Given the description of an element on the screen output the (x, y) to click on. 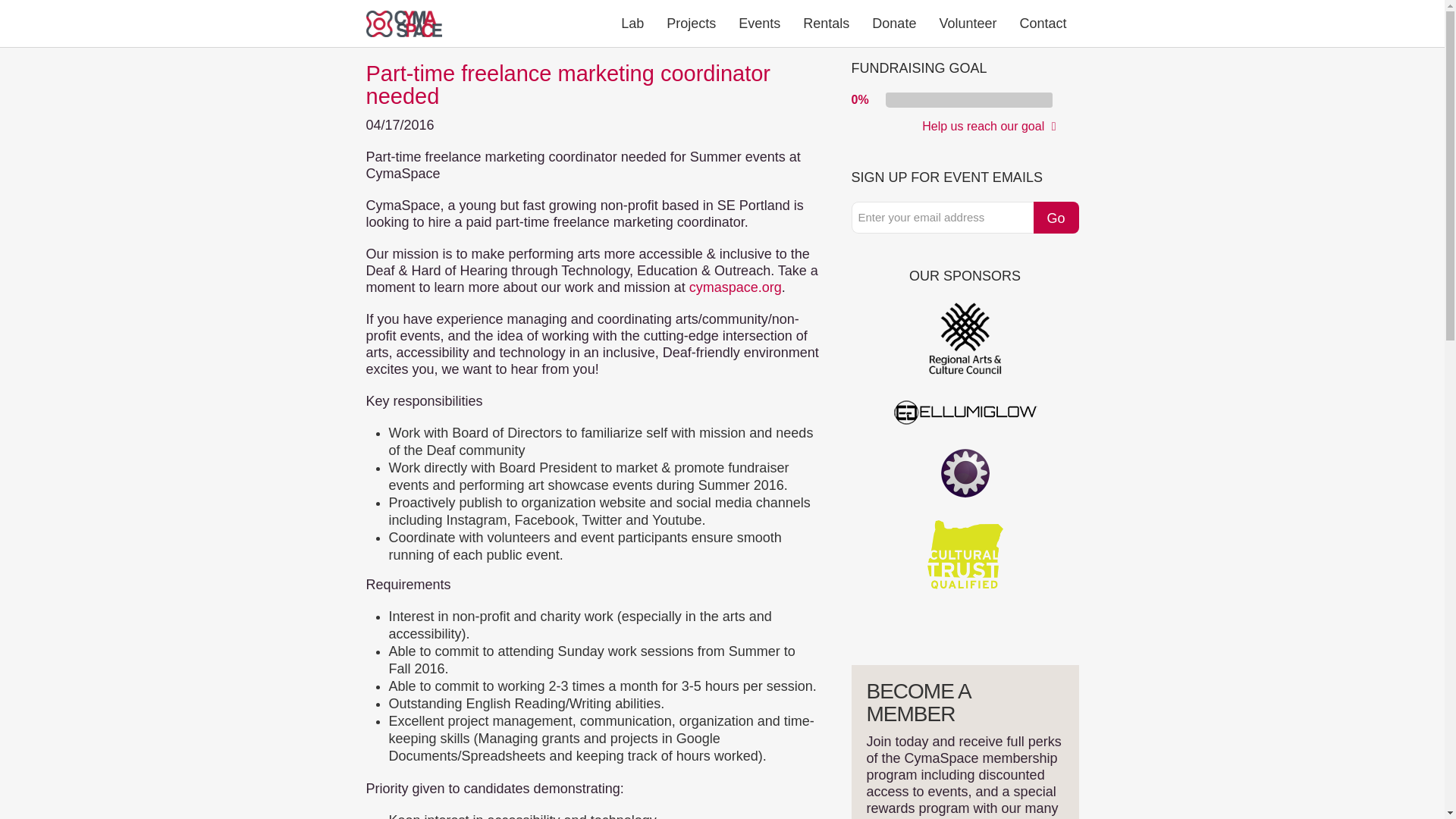
ellumiglow electric optics (964, 411)
Donate (893, 23)
CymaSpace Lab Program (632, 23)
osh park - an electric ecosystem (964, 472)
CymaSpace (403, 23)
Rentals (826, 23)
Contact (1042, 23)
cymaspace.org (734, 287)
oregon cultural trust (964, 554)
Projects (690, 23)
Volunteer (967, 23)
Events (759, 23)
regional arts and culture countil (964, 337)
Go (1055, 217)
Lab (632, 23)
